Given the description of an element on the screen output the (x, y) to click on. 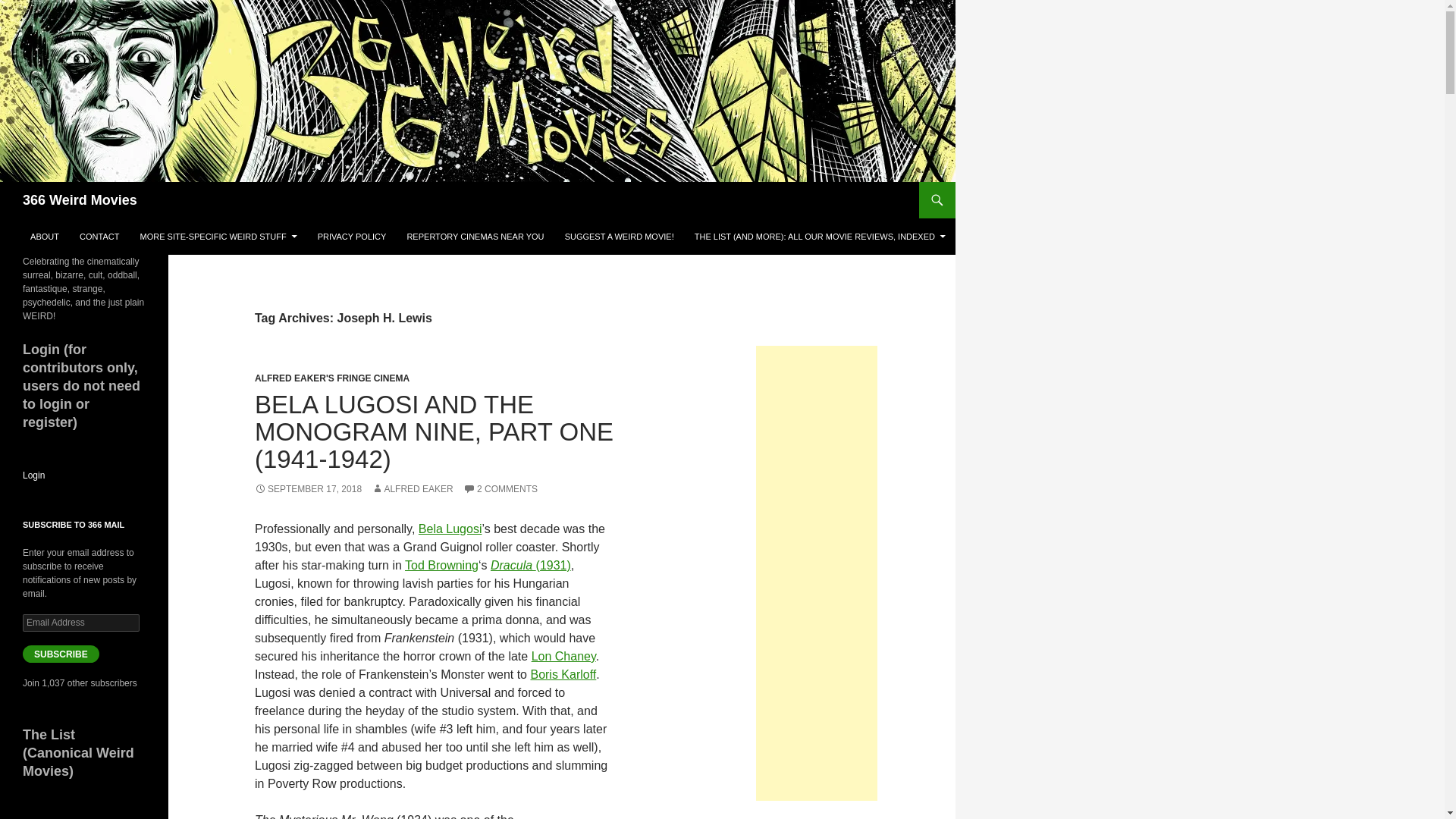
366 Weird Movies (79, 199)
ALFRED EAKER (411, 489)
Lon Chaney (563, 656)
2 COMMENTS (500, 489)
SEPTEMBER 17, 2018 (307, 489)
ABOUT (44, 236)
MORE SITE-SPECIFIC WEIRD STUFF (218, 236)
REPERTORY CINEMAS NEAR YOU (475, 236)
Boris Karloff (562, 674)
Tod Browning (441, 564)
SUGGEST A WEIRD MOVIE! (619, 236)
PRIVACY POLICY (352, 236)
ALFRED EAKER'S FRINGE CINEMA (331, 378)
